Given the description of an element on the screen output the (x, y) to click on. 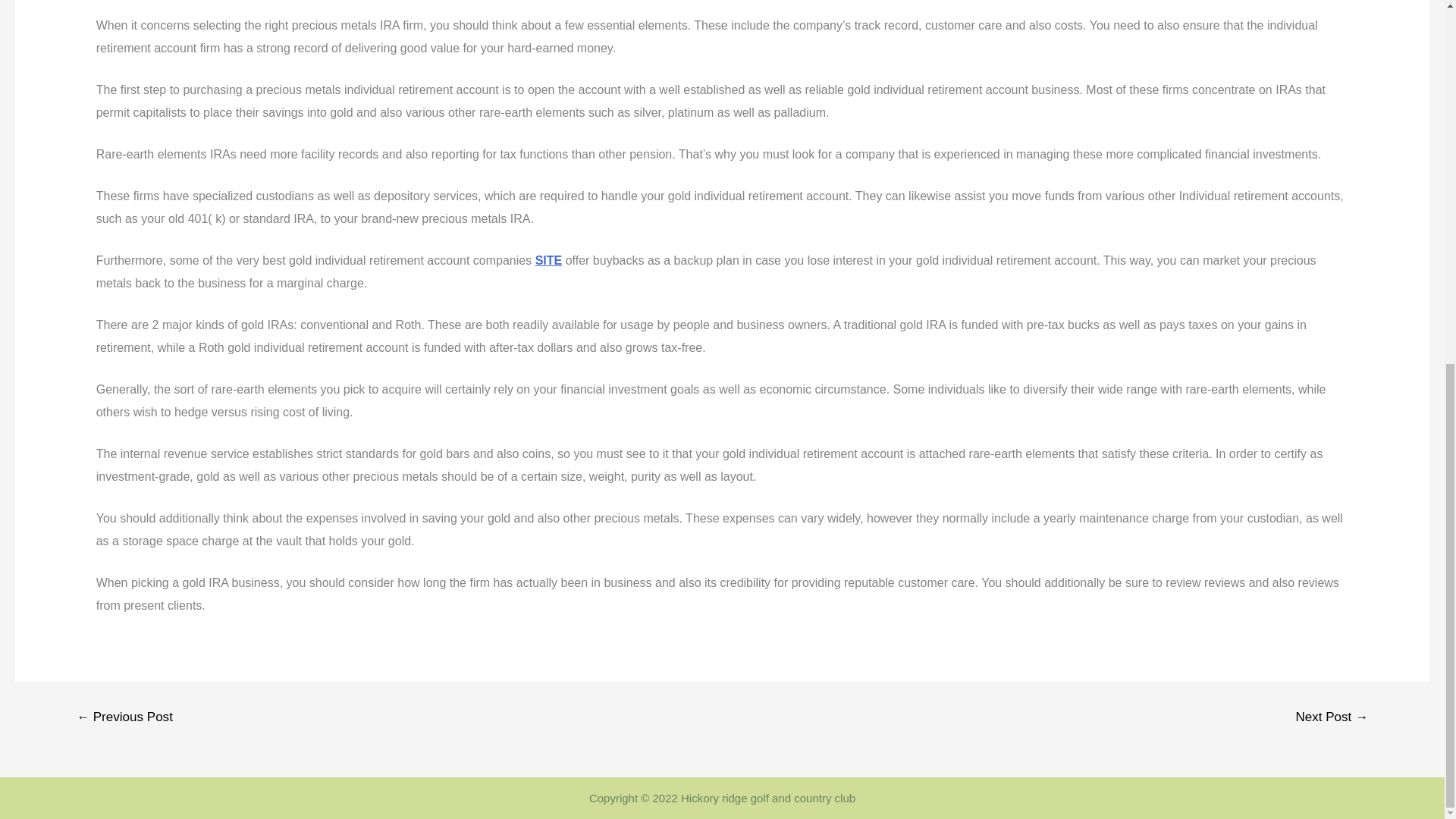
SITE (548, 259)
